Given the description of an element on the screen output the (x, y) to click on. 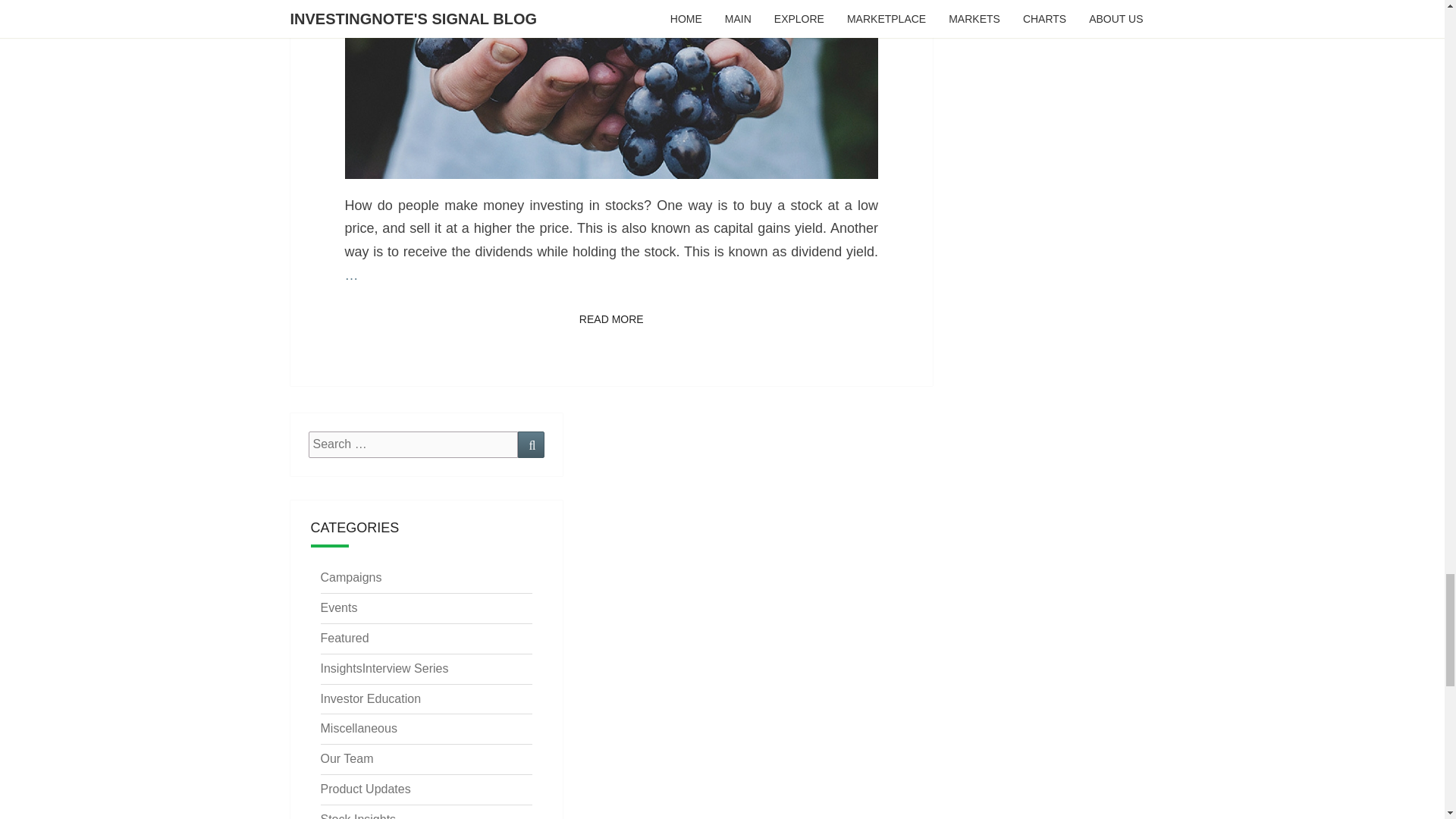
Search for: (412, 444)
